Given the description of an element on the screen output the (x, y) to click on. 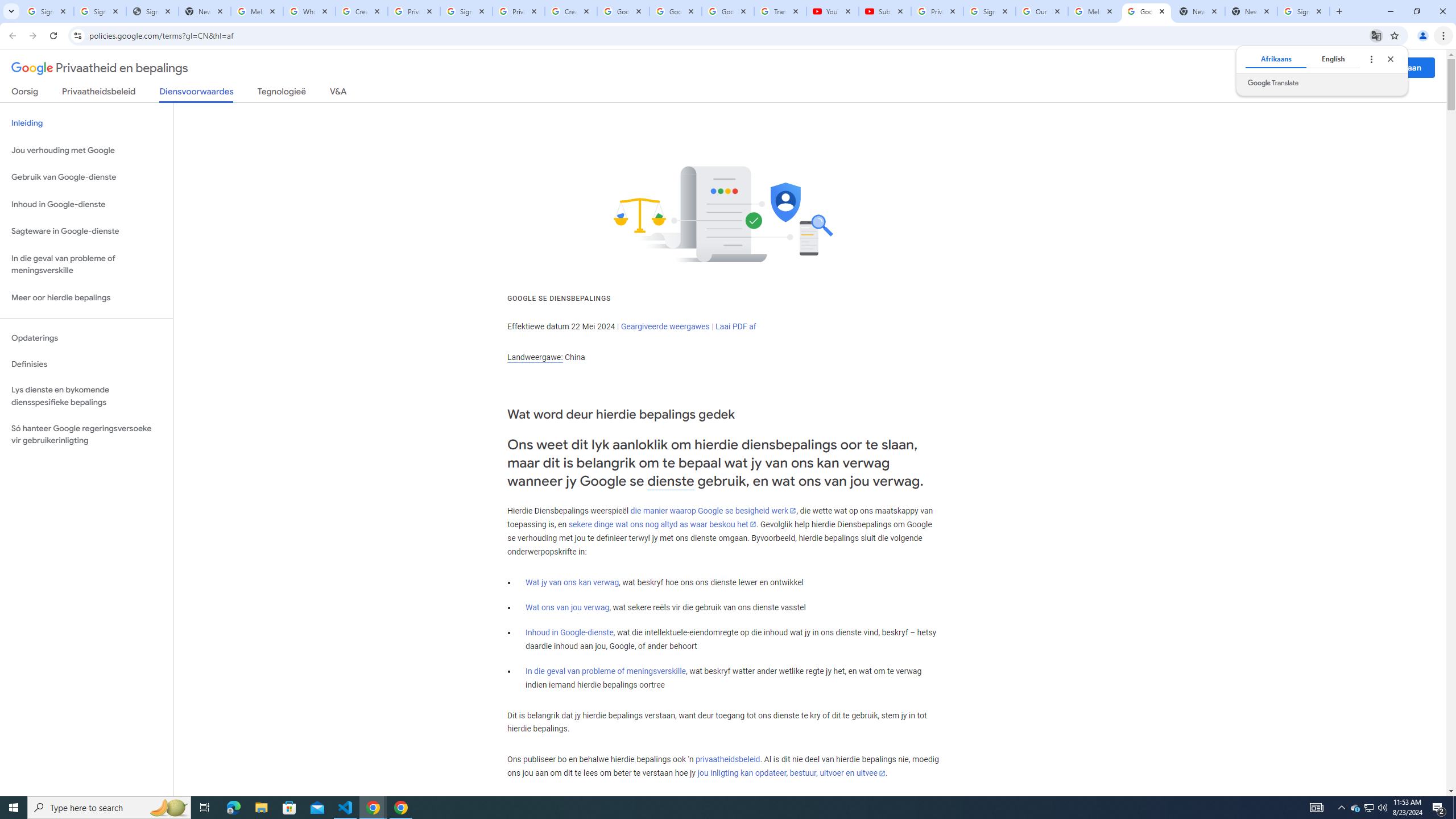
In die geval van probleme of meningsverskille (605, 670)
Meer oor hierdie bepalings (86, 298)
Sagteware in Google-dienste (86, 230)
Geargiveerde weergawes (665, 326)
Google Account (727, 11)
New Tab (1251, 11)
YouTube (831, 11)
